Given the description of an element on the screen output the (x, y) to click on. 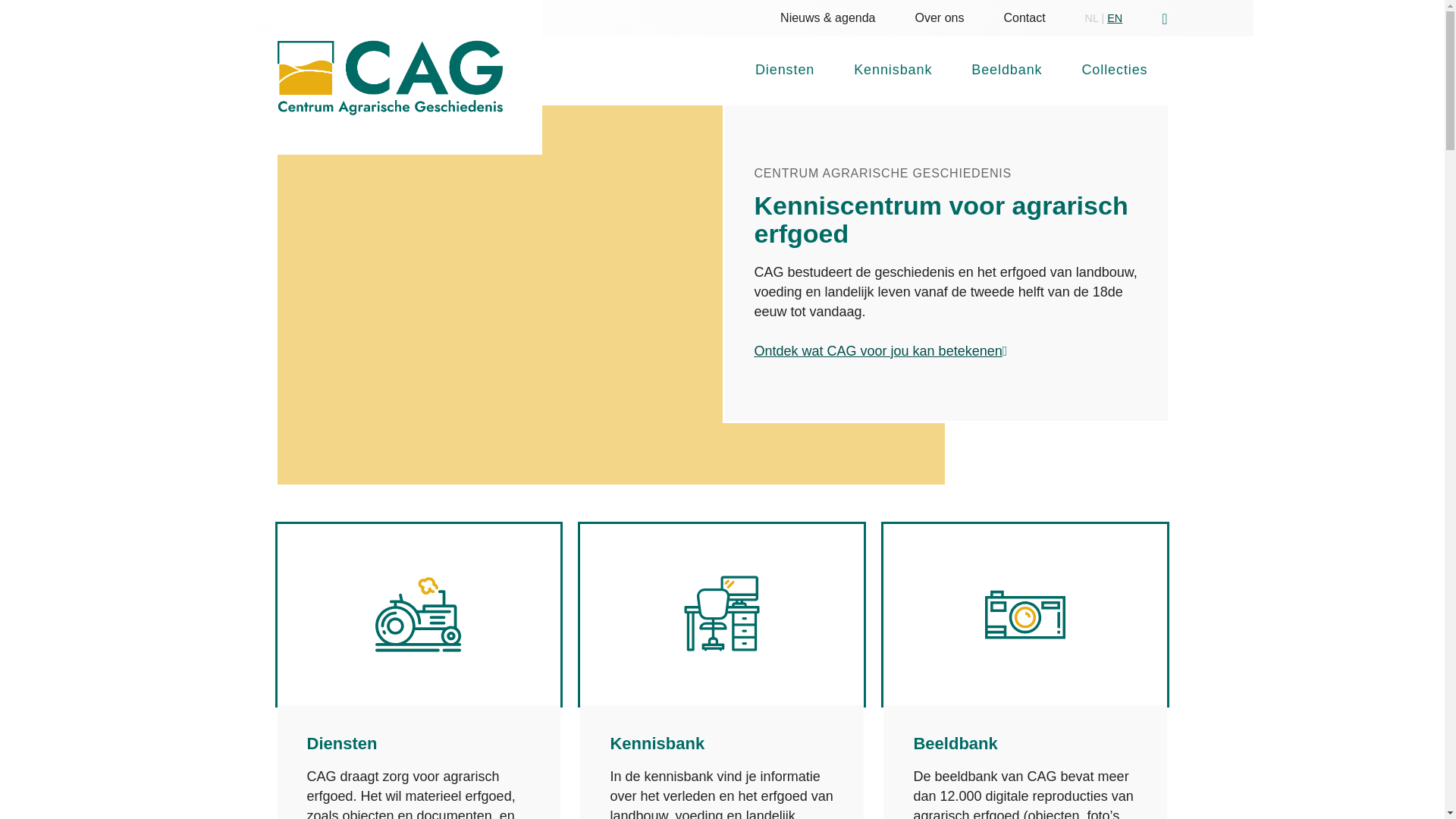
EN Element type: text (1114, 18)
Diensten Element type: text (784, 70)
Ontdek wat CAG voor jou kan betekenen Element type: text (877, 350)
Contact Element type: text (1023, 18)
Collecties Element type: text (1114, 70)
Beeldbank Element type: text (1006, 70)
Kennisbank Element type: text (892, 70)
Over ons Element type: text (939, 18)
Kennisbank Element type: text (656, 743)
Nieuws & agenda Element type: text (827, 18)
Diensten Element type: text (341, 743)
Beeldbank Element type: text (955, 743)
